Given the description of an element on the screen output the (x, y) to click on. 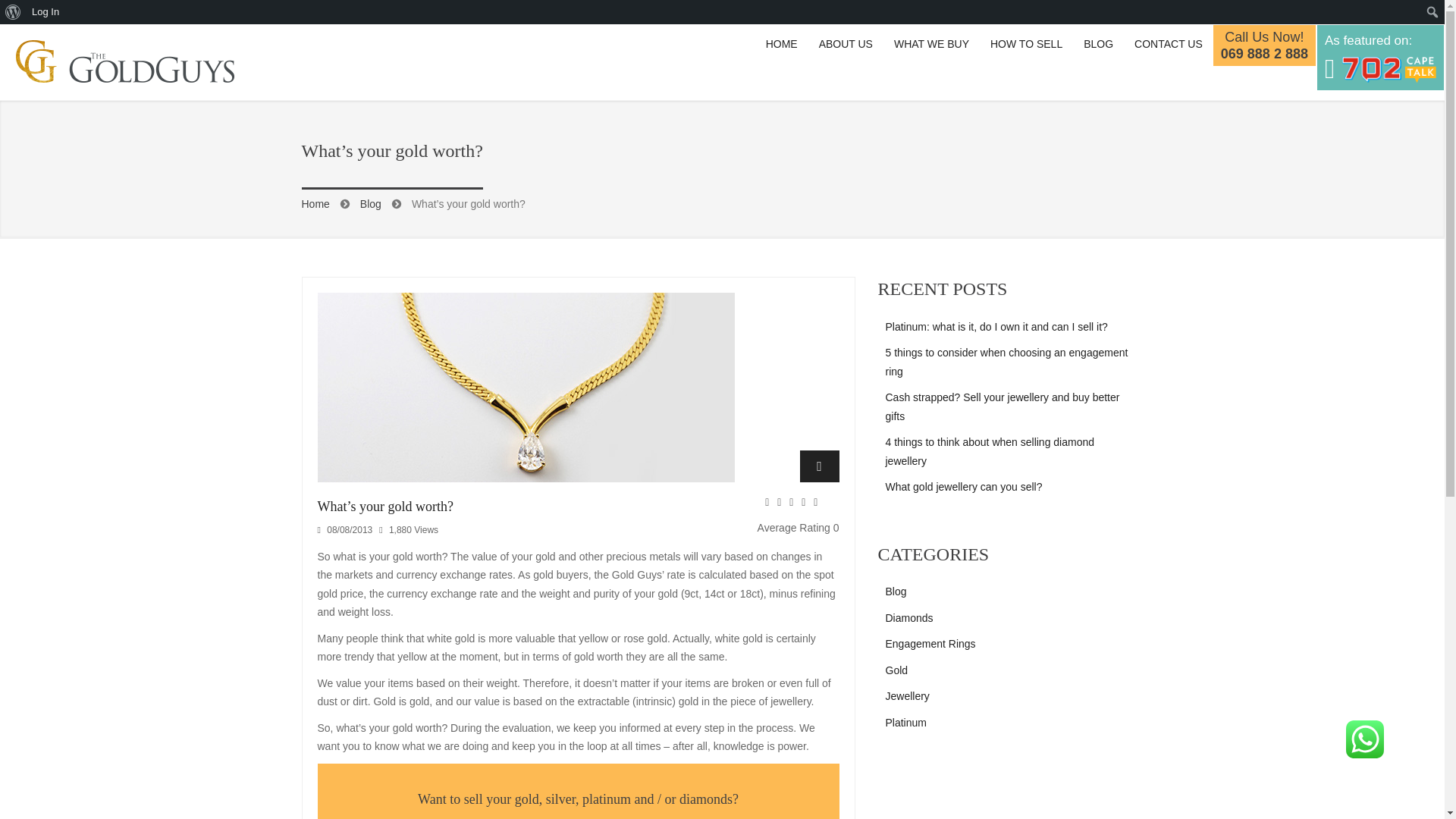
HOME (781, 43)
5 (819, 512)
CONTACT US (1168, 43)
Jewellery (907, 695)
How To Sell (1026, 43)
Engagement Rings (930, 644)
Blog (1098, 43)
Platinum (905, 722)
5 things to consider when choosing an engagement ring (1006, 361)
Satisfactory (783, 512)
BLOG (1098, 43)
Blog (896, 591)
About Us (845, 43)
4 things to think about when selling diamond jewellery (989, 450)
